Given the description of an element on the screen output the (x, y) to click on. 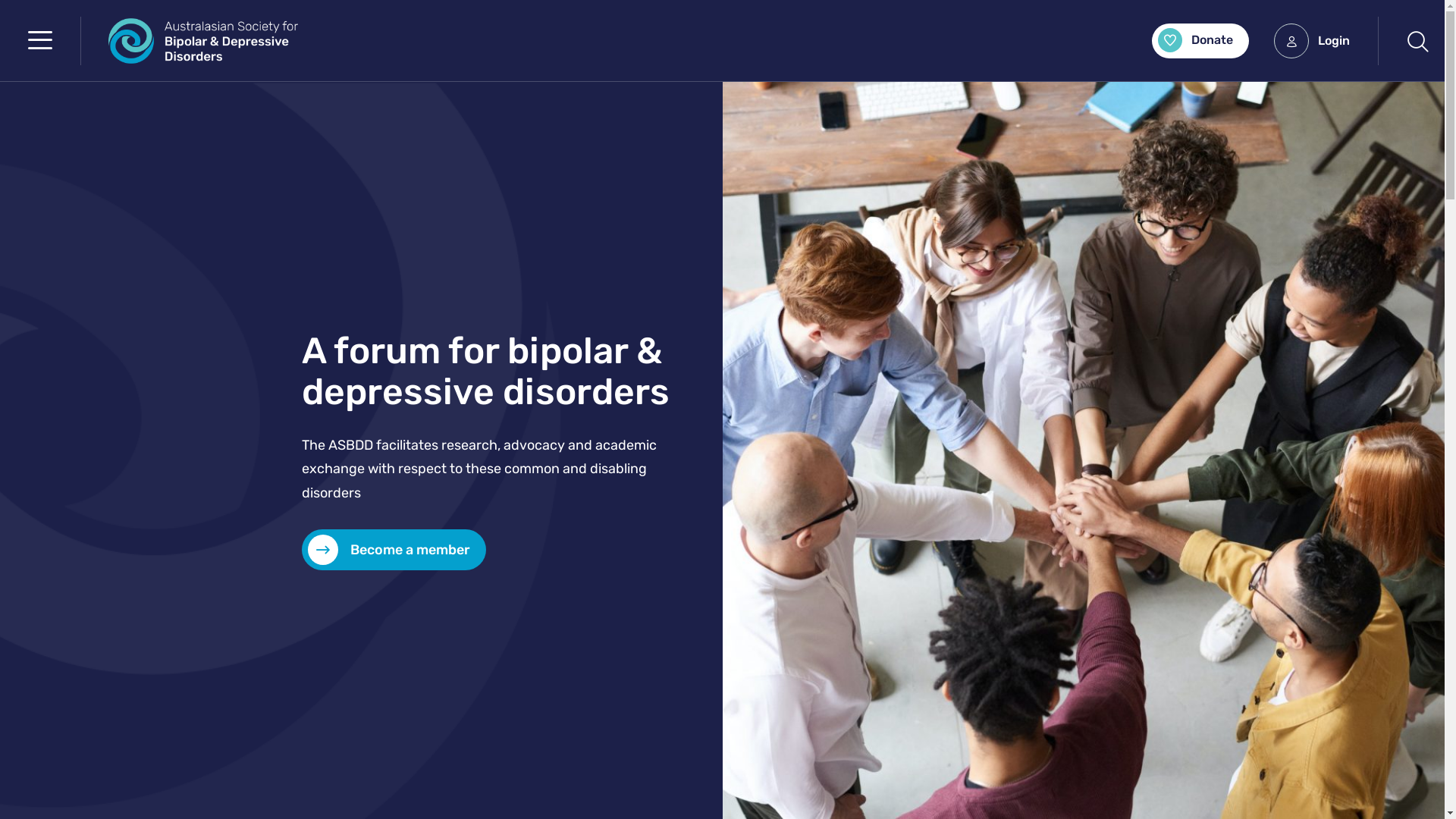
Login Element type: text (1311, 39)
 Become a member Element type: text (393, 549)
Donate Element type: text (1199, 39)
